Given the description of an element on the screen output the (x, y) to click on. 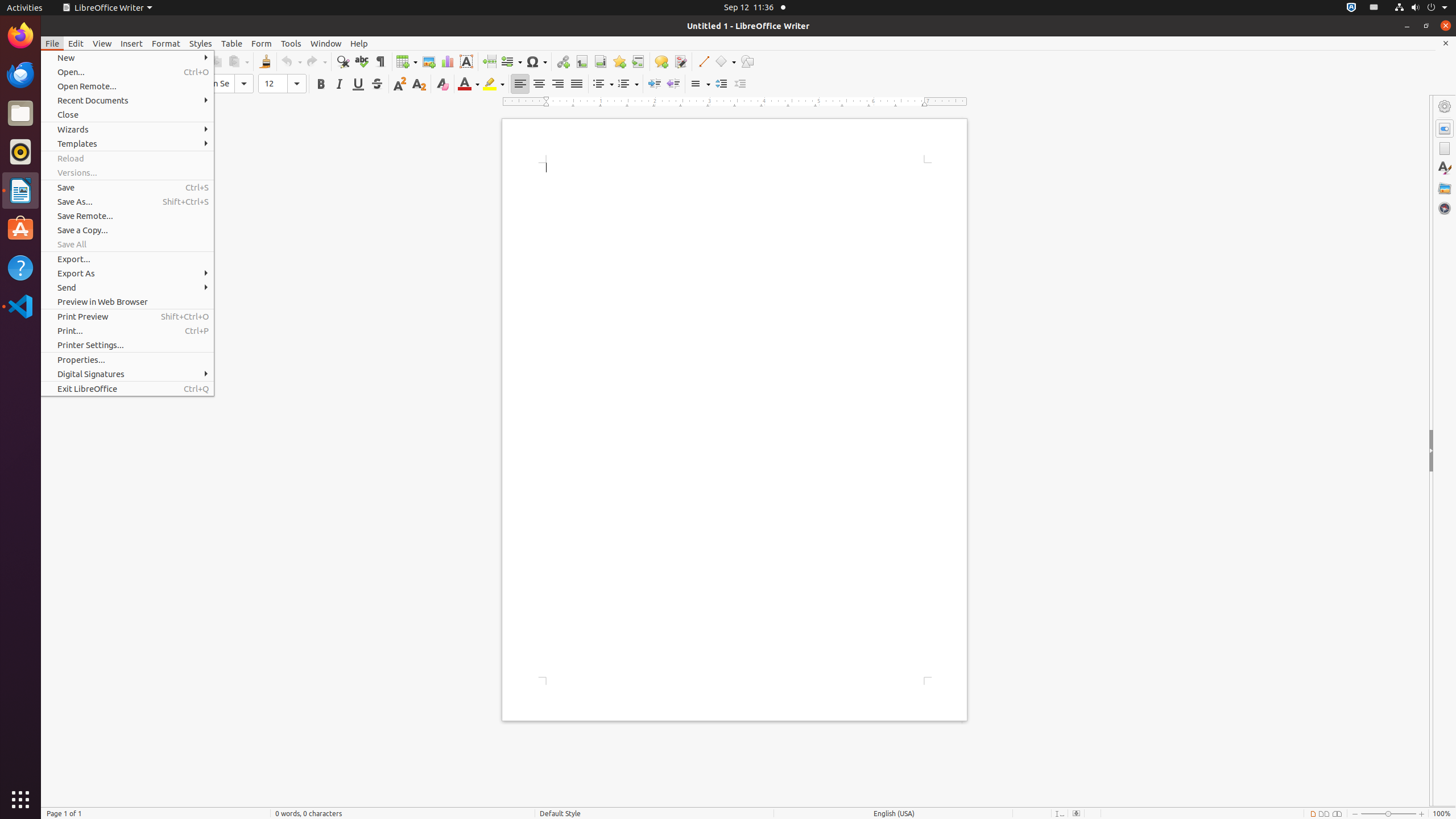
Clone Element type: push-button (264, 61)
Save As... Element type: menu-item (126, 201)
Open Remote... Element type: menu-item (126, 86)
Navigator Element type: radio-button (1444, 208)
File Element type: menu (51, 43)
